Given the description of an element on the screen output the (x, y) to click on. 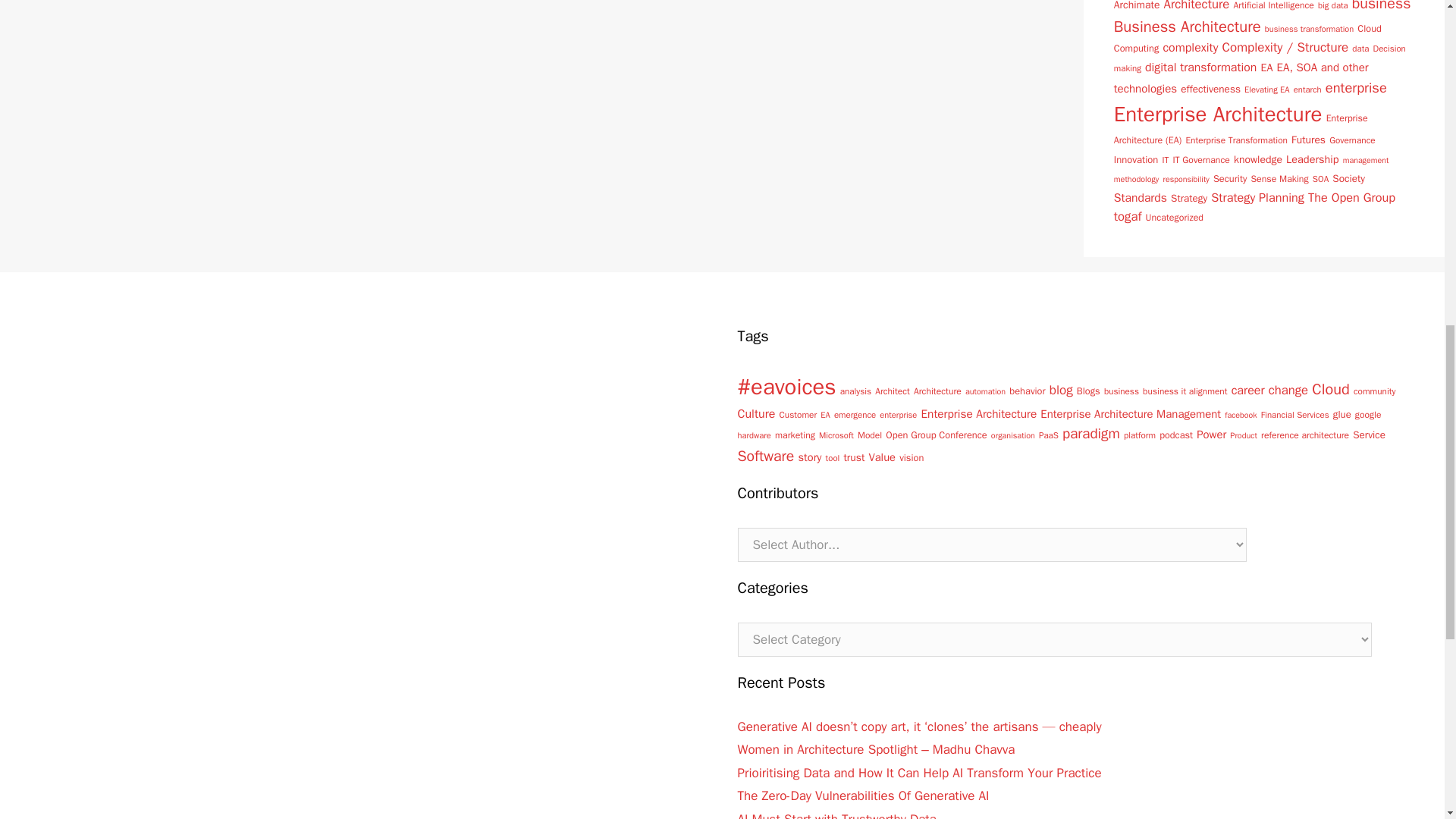
Archimate (1136, 5)
big data (1332, 5)
business transformation (1309, 28)
business (1381, 6)
Architecture (1196, 6)
Business Architecture (1186, 26)
Scroll back to top (1406, 720)
Artificial Intelligence (1273, 5)
